Given the description of an element on the screen output the (x, y) to click on. 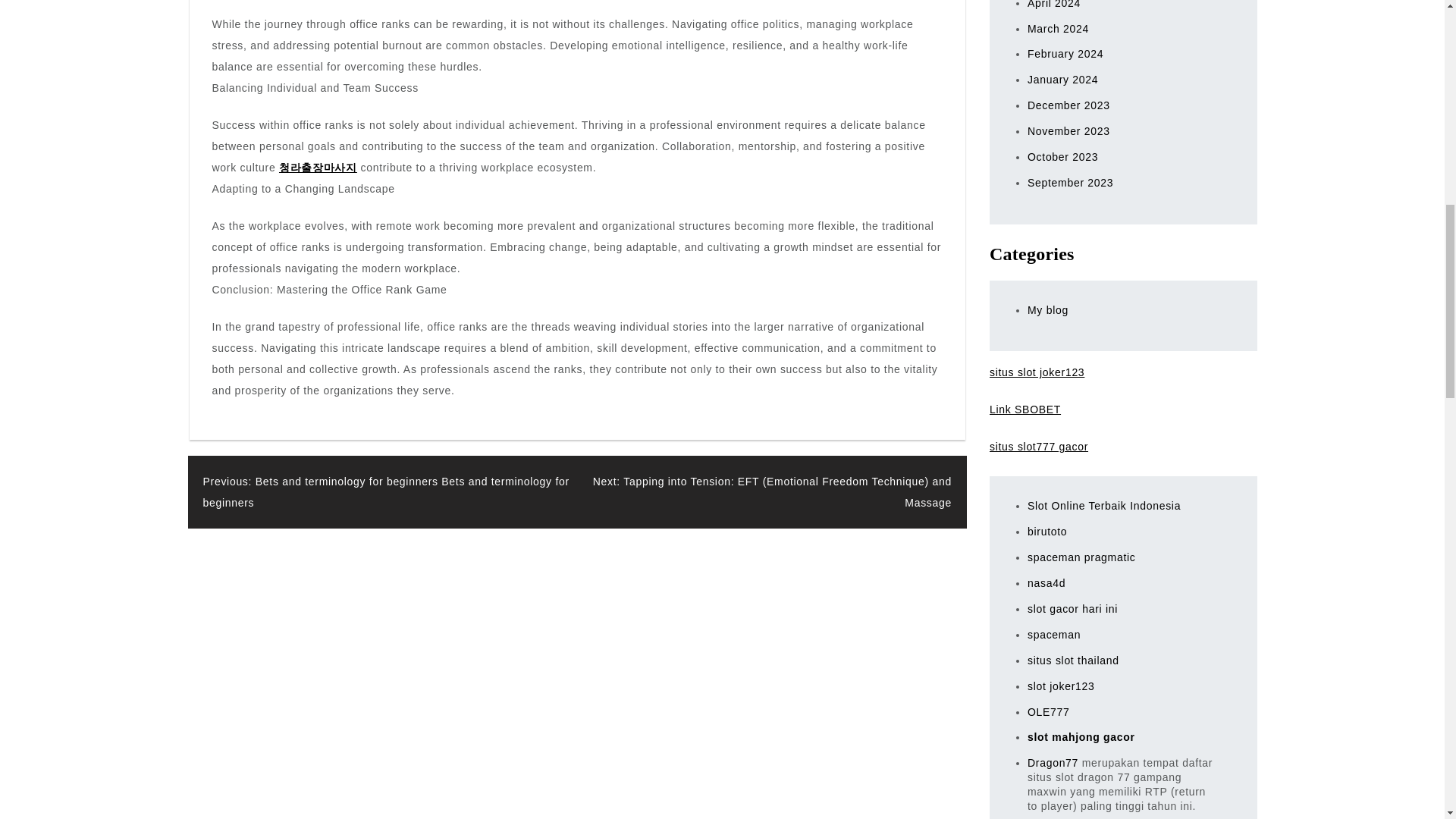
My blog (1047, 309)
nasa4d (1046, 582)
Slot Online Terbaik Indonesia (1103, 505)
December 2023 (1068, 105)
March 2024 (1058, 28)
September 2023 (1070, 182)
January 2024 (1062, 79)
situs slot777 gacor (1038, 446)
February 2024 (1065, 53)
situs slot joker123 (1037, 372)
birutoto (1047, 531)
Link SBOBET (1025, 409)
October 2023 (1062, 156)
spaceman pragmatic (1081, 557)
